Given the description of an element on the screen output the (x, y) to click on. 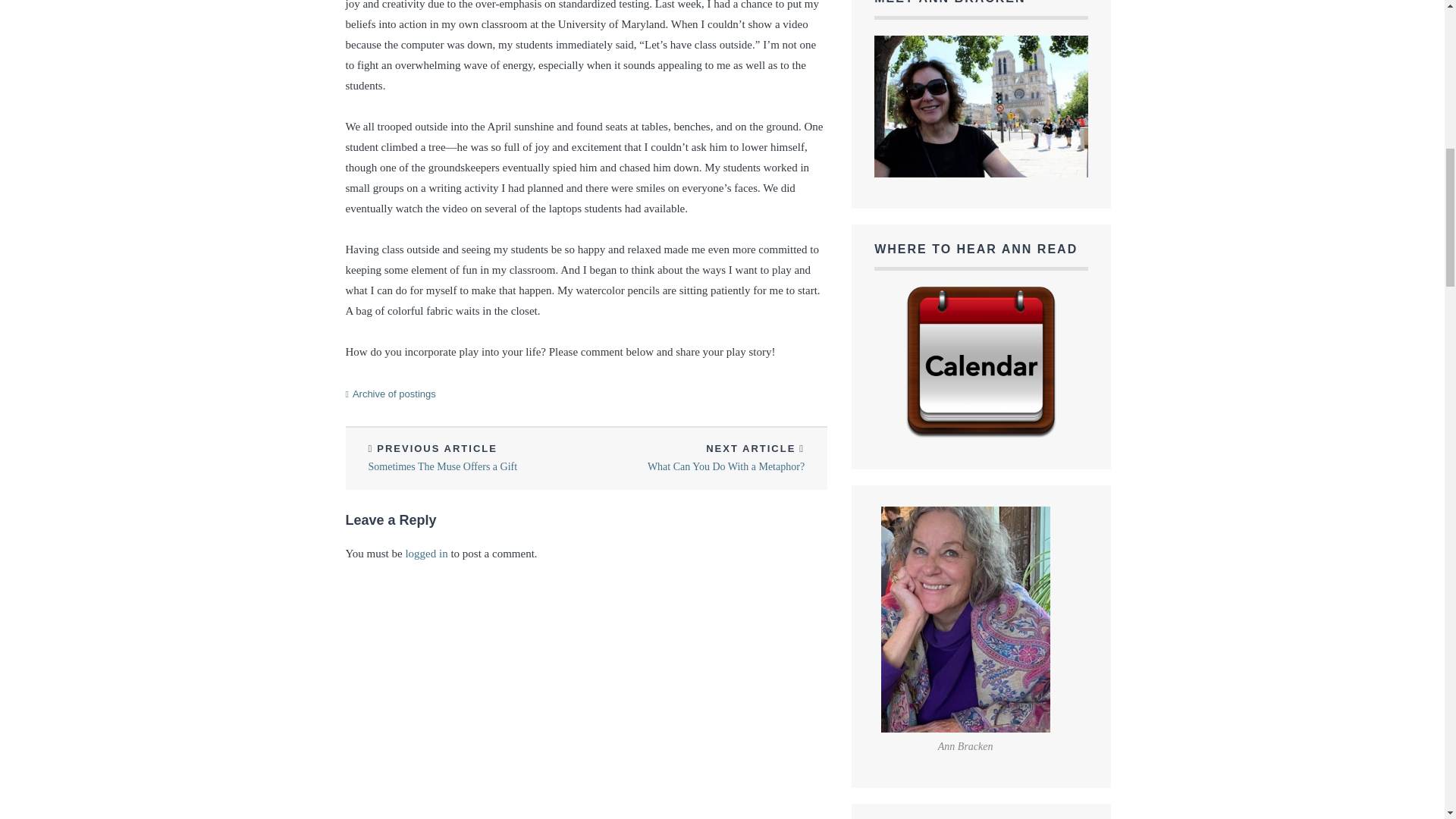
Archive of postings (706, 458)
logged in (393, 393)
